Given the description of an element on the screen output the (x, y) to click on. 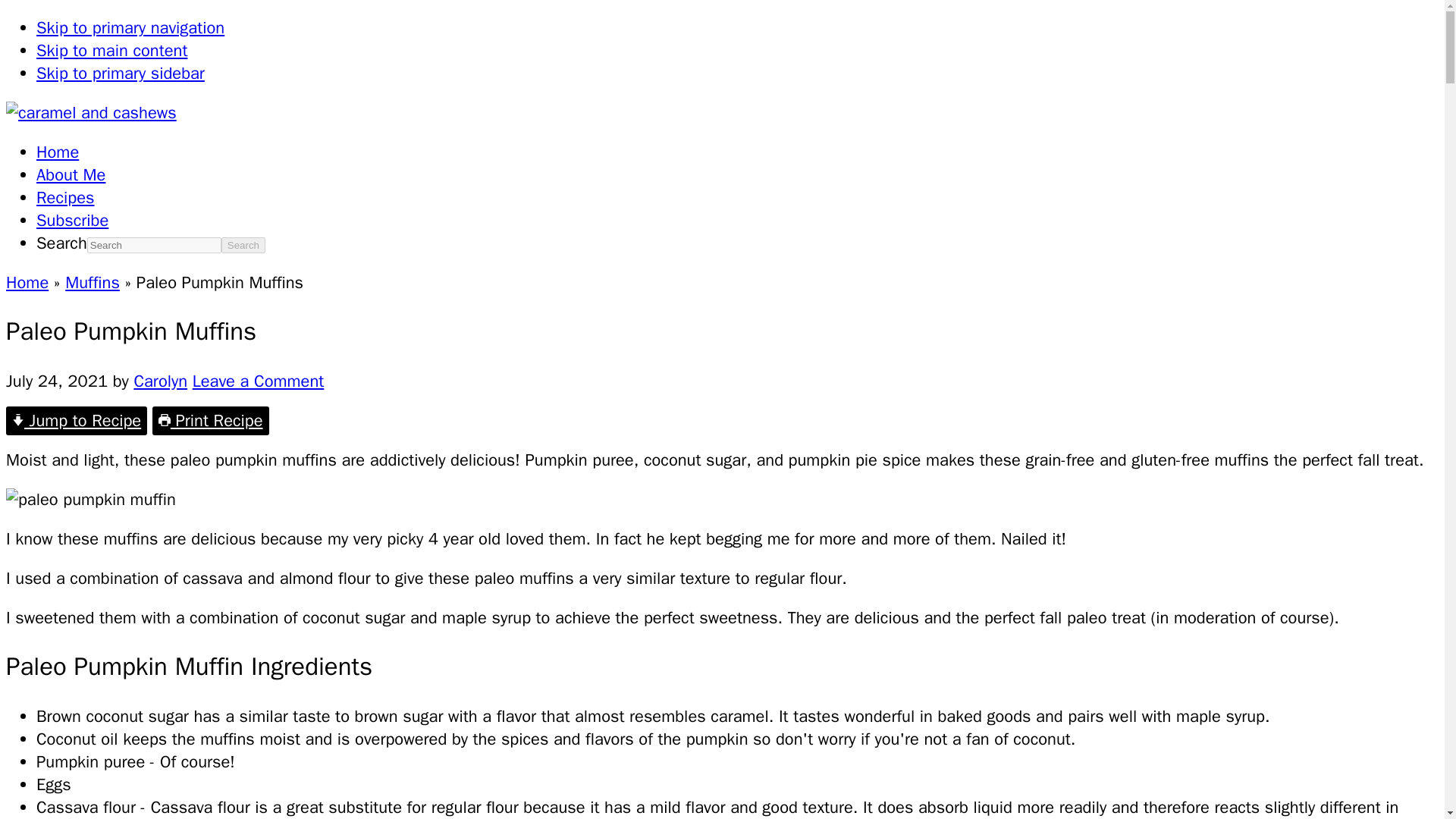
Search (242, 245)
caramel and cashews (90, 112)
Carolyn (160, 381)
Search (242, 245)
Muffins (92, 282)
Jump to Recipe (76, 420)
Skip to primary navigation (130, 27)
Skip to main content (111, 50)
Home (57, 151)
Leave a Comment (258, 381)
